Given the description of an element on the screen output the (x, y) to click on. 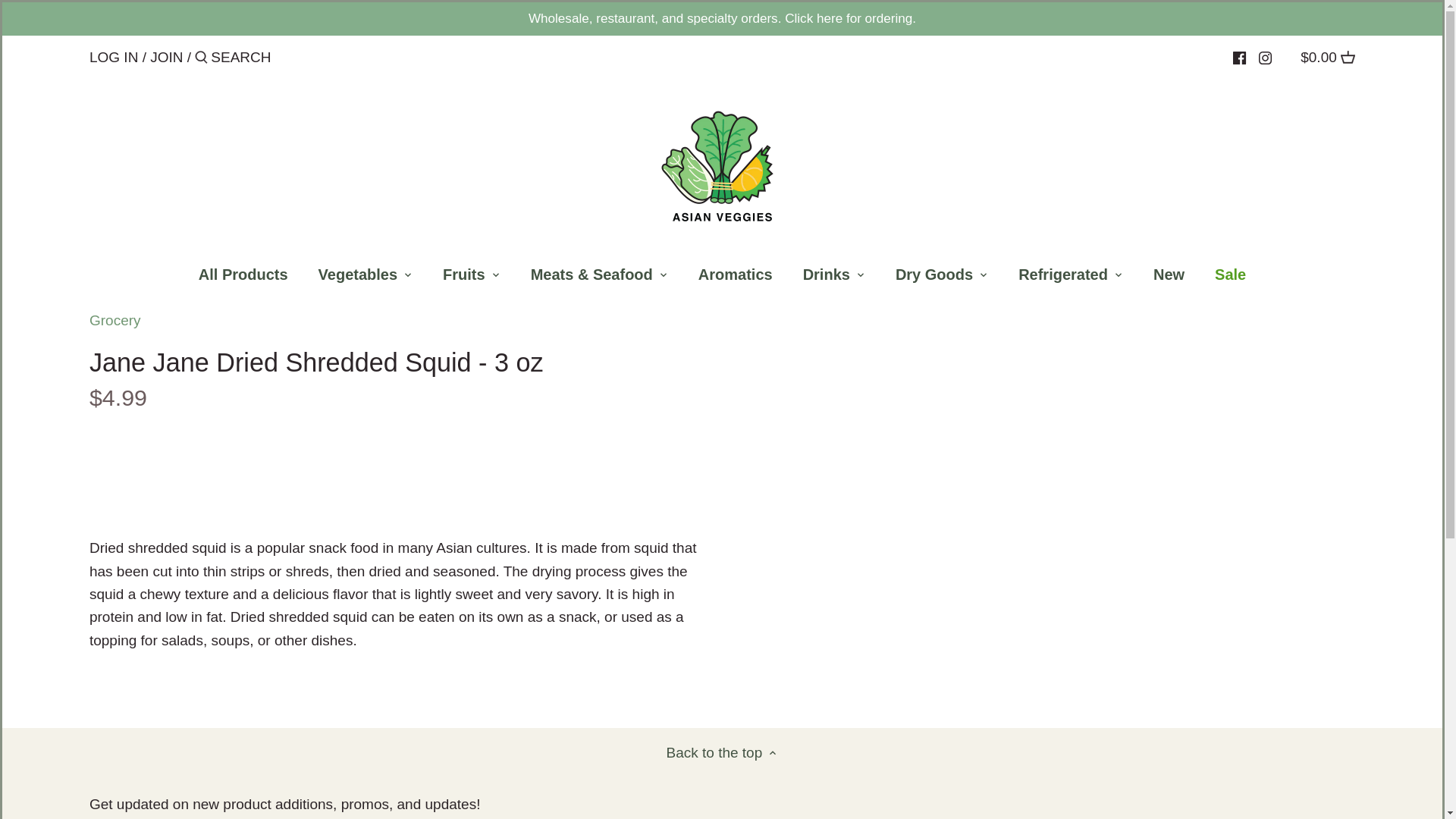
INSTAGRAM (1265, 57)
LOG IN (113, 57)
FACEBOOK (1239, 57)
INSTAGRAM (1265, 57)
Fruits (464, 277)
JOIN (166, 57)
All Products (242, 277)
FACEBOOK (1239, 57)
Vegetables (357, 277)
